Given the description of an element on the screen output the (x, y) to click on. 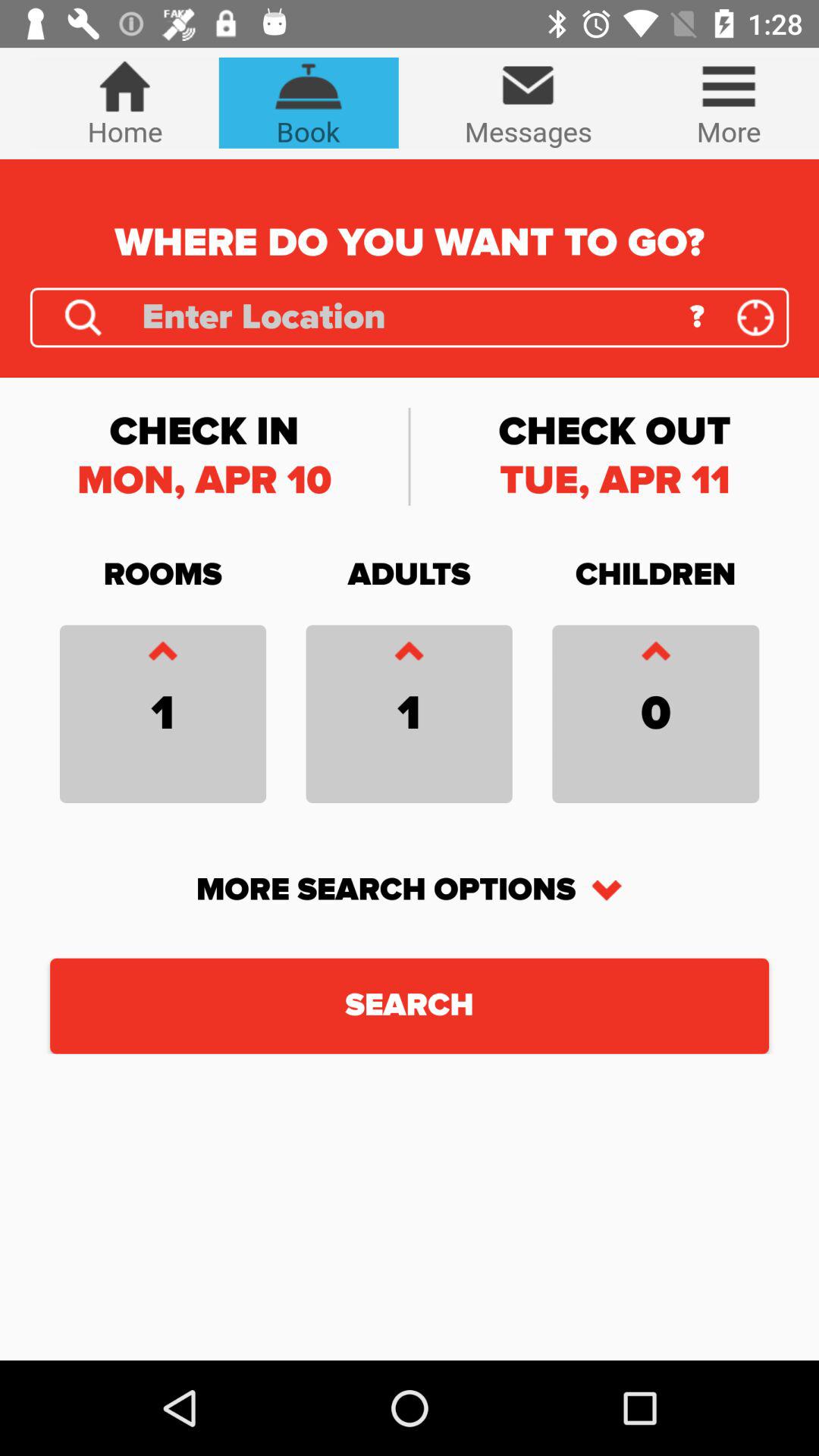
search bar (404, 317)
